Given the description of an element on the screen output the (x, y) to click on. 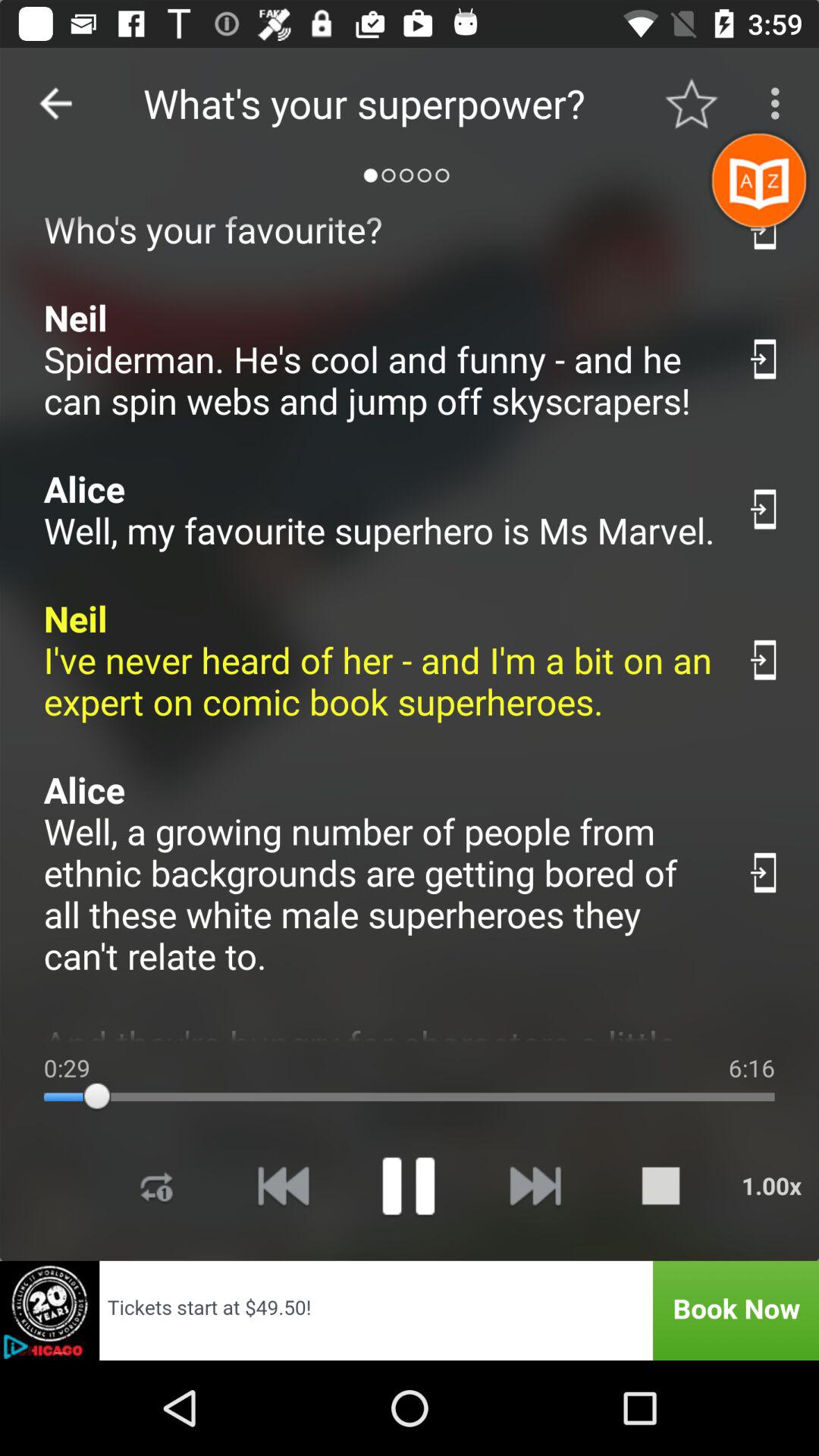
go to next page (534, 1185)
